Given the description of an element on the screen output the (x, y) to click on. 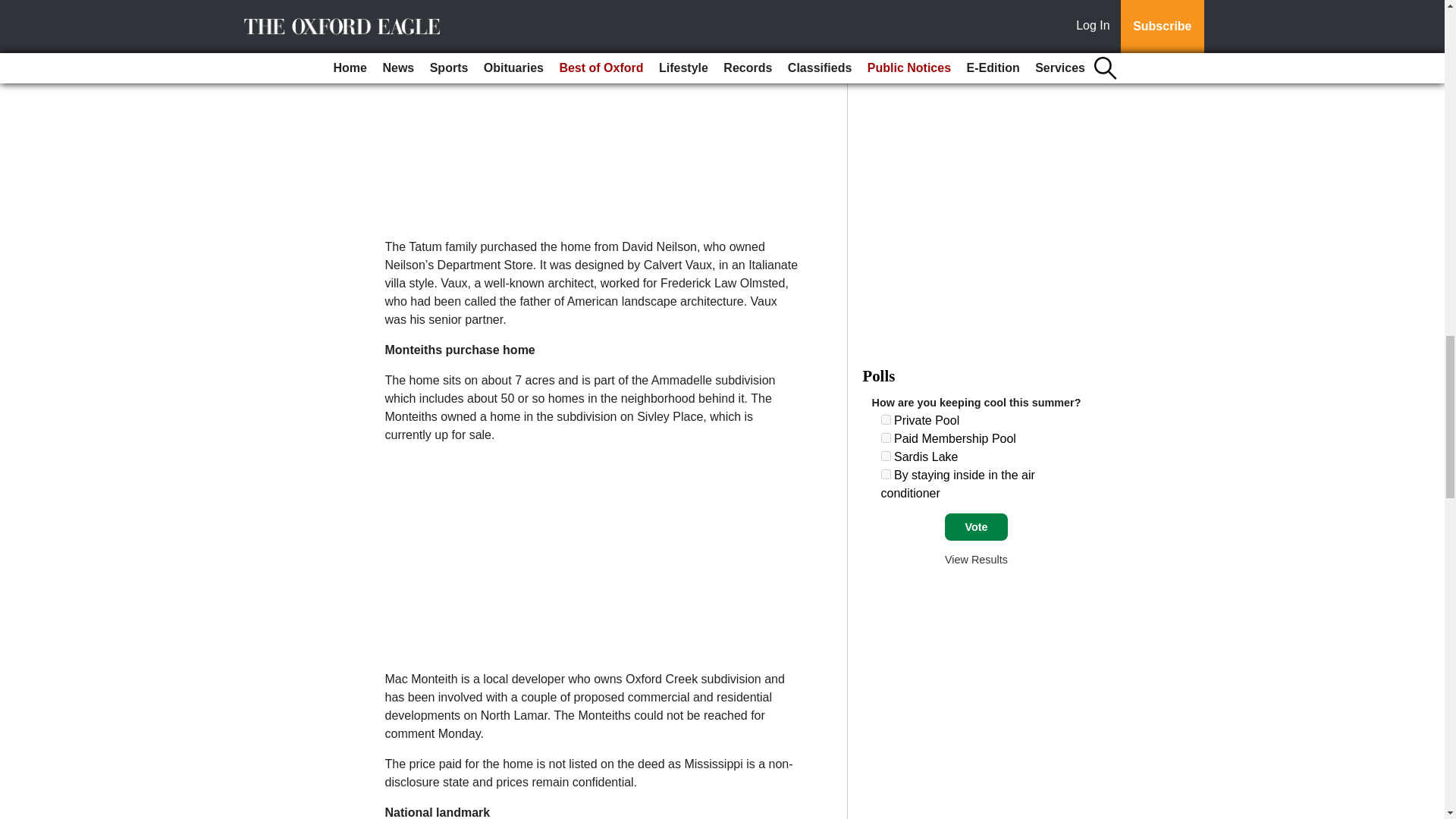
165 (885, 438)
   Vote    (975, 526)
167 (885, 474)
View Results Of This Poll (975, 559)
164 (885, 419)
166 (885, 456)
